Given the description of an element on the screen output the (x, y) to click on. 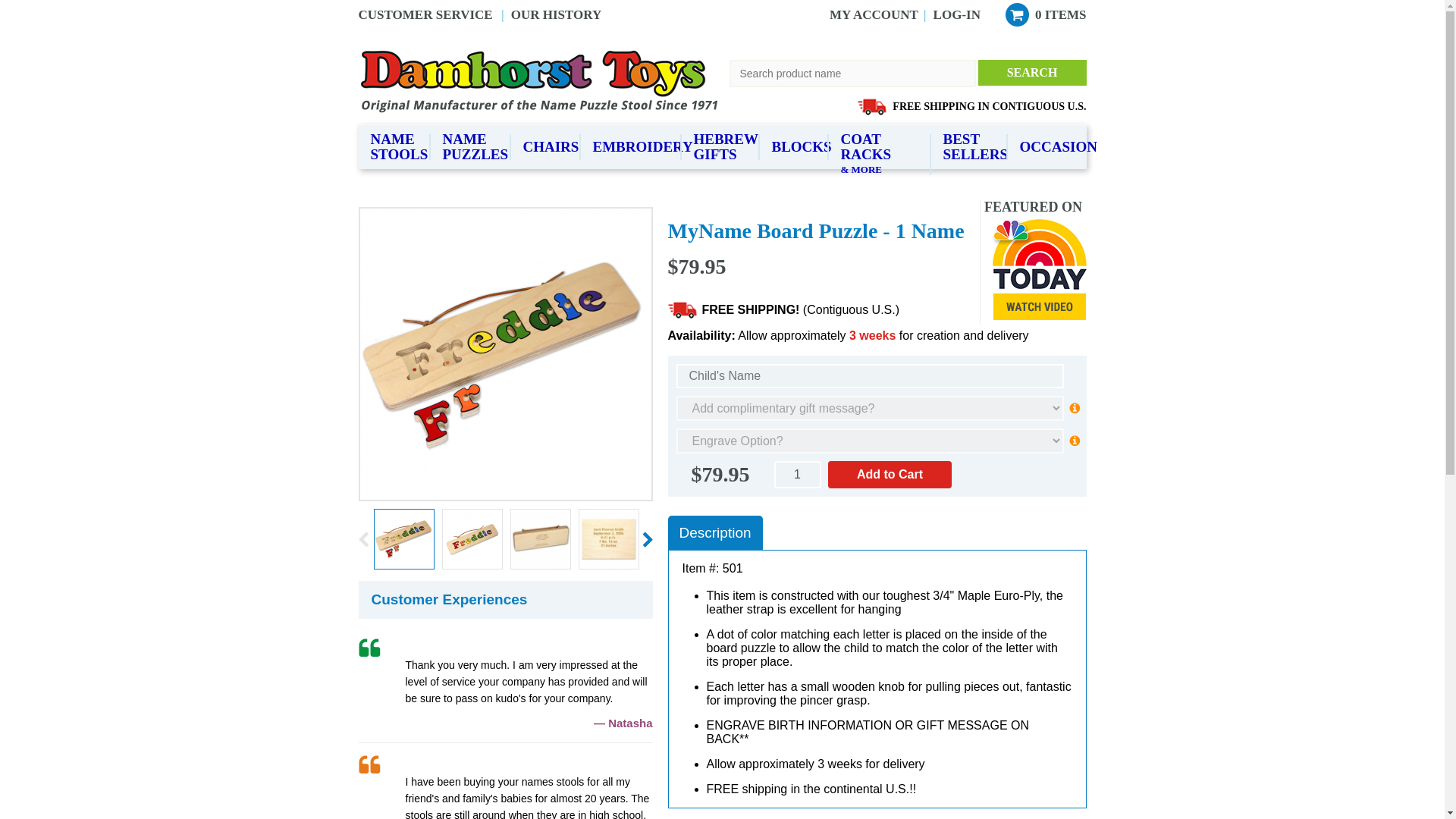
Add to Cart (890, 474)
Damhorst Toys (543, 80)
Go to Homepage (543, 80)
MY ACCOUNT (873, 14)
NAME PUZZLES (470, 146)
EMBROIDERY (630, 146)
Search (1032, 72)
OUR HISTORY (556, 14)
LOG-IN (956, 14)
Search (1032, 72)
NAME STOOLS (393, 146)
CHAIRS (545, 146)
0 ITEMS (1046, 15)
1 (797, 474)
CUSTOMER SERVICE (425, 14)
